Given the description of an element on the screen output the (x, y) to click on. 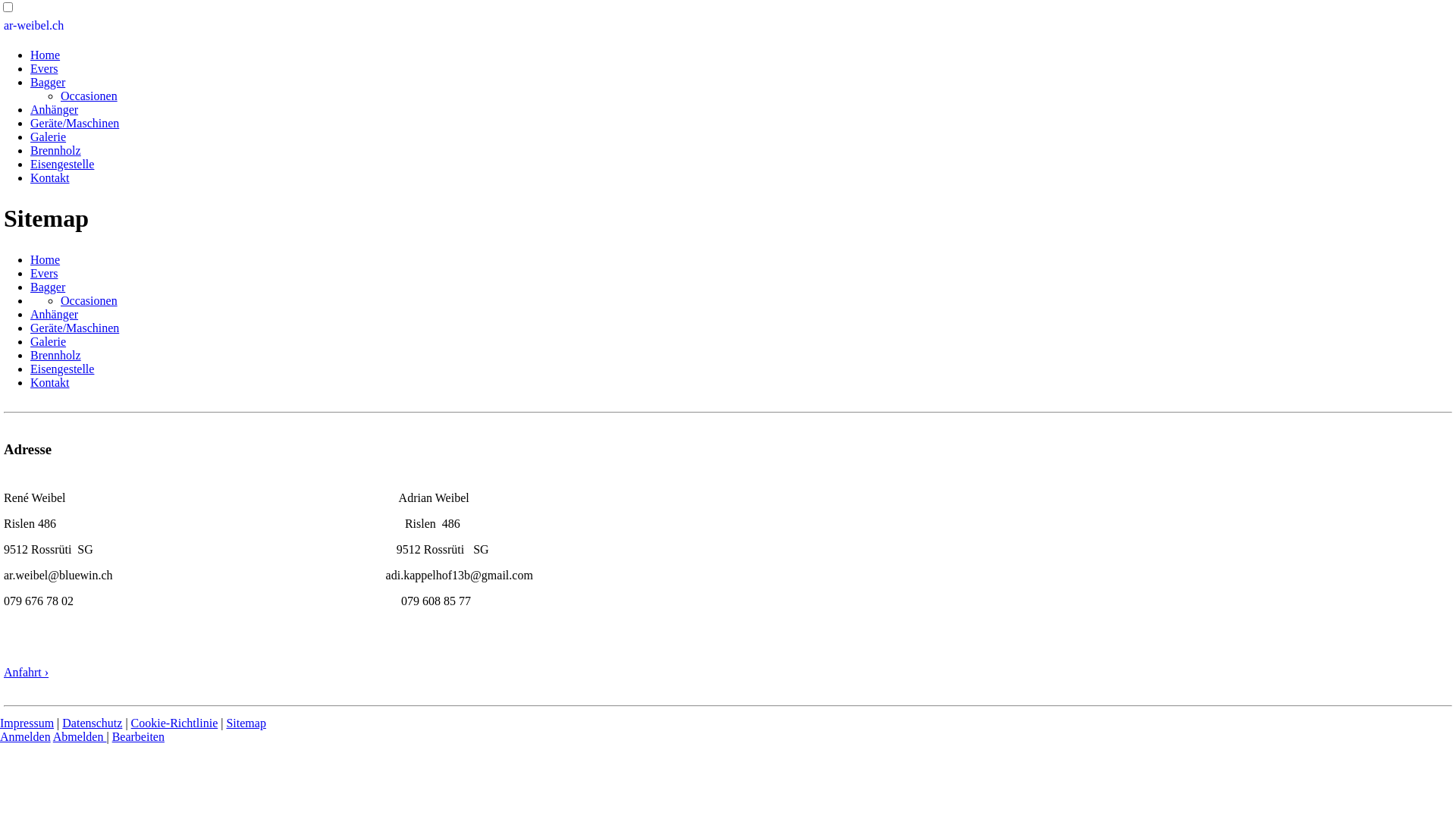
Kontakt Element type: text (49, 382)
Evers Element type: text (43, 272)
Eisengestelle Element type: text (62, 368)
Bearbeiten Element type: text (138, 736)
ar-weibel.ch Element type: text (33, 24)
Eisengestelle Element type: text (62, 163)
Brennholz Element type: text (55, 354)
Impressum Element type: text (26, 722)
Home Element type: text (44, 54)
Evers Element type: text (43, 68)
Bagger Element type: text (47, 286)
Cookie-Richtlinie Element type: text (174, 722)
Sitemap Element type: text (245, 722)
Occasionen Element type: text (88, 300)
Brennholz Element type: text (55, 150)
Kontakt Element type: text (49, 177)
Datenschutz Element type: text (92, 722)
Home Element type: text (44, 259)
Galerie Element type: text (47, 341)
Abmelden Element type: text (79, 736)
Galerie Element type: text (47, 136)
Bagger Element type: text (47, 81)
Occasionen Element type: text (88, 95)
Anmelden Element type: text (25, 736)
